Given the description of an element on the screen output the (x, y) to click on. 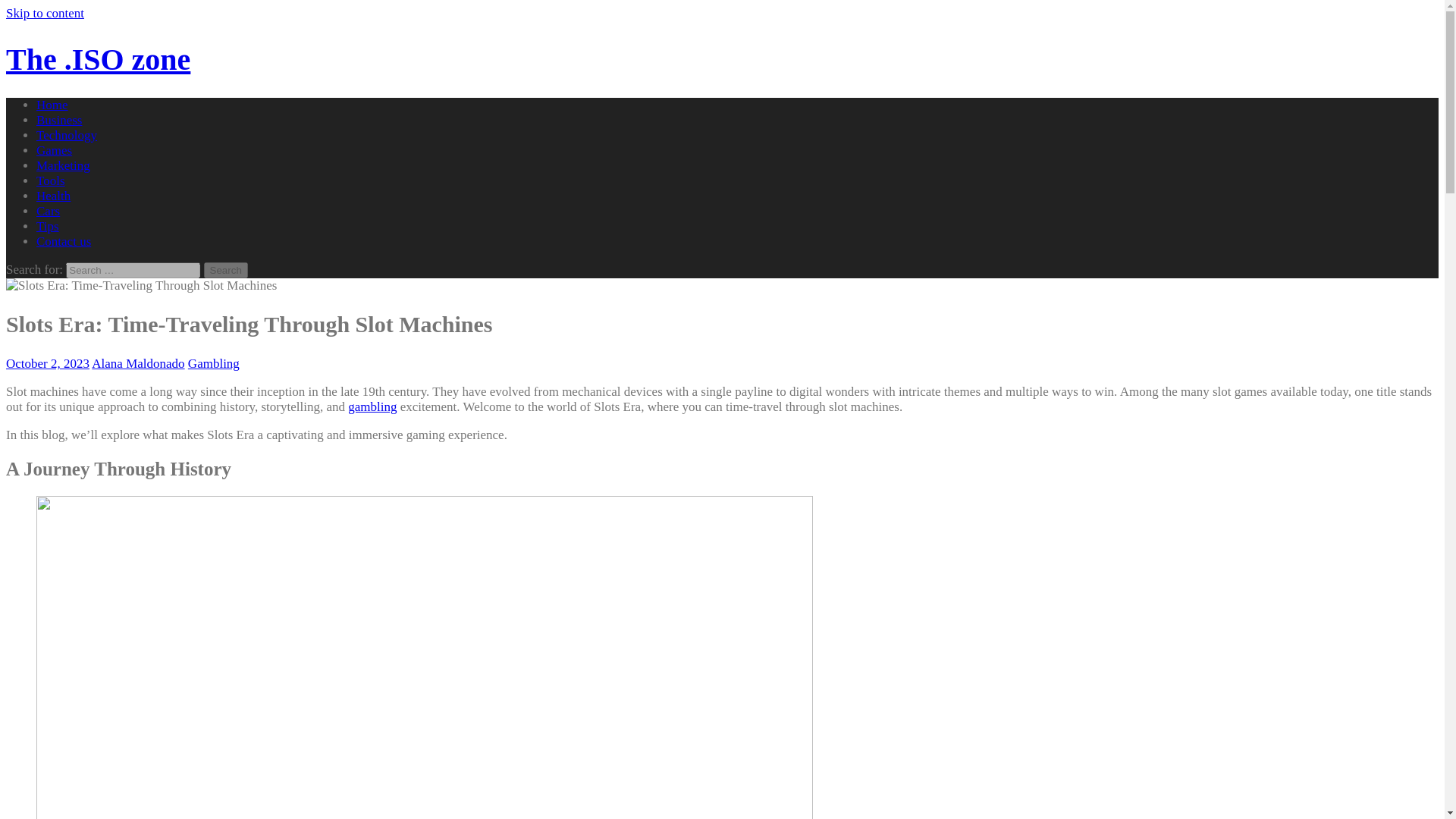
Contact us (63, 241)
Marketing (63, 165)
Search (225, 270)
October 2, 2023 (46, 363)
gambling (371, 406)
Skip to content (44, 12)
Tips (47, 226)
Gambling (213, 363)
Tools (50, 180)
Business (58, 120)
